Given the description of an element on the screen output the (x, y) to click on. 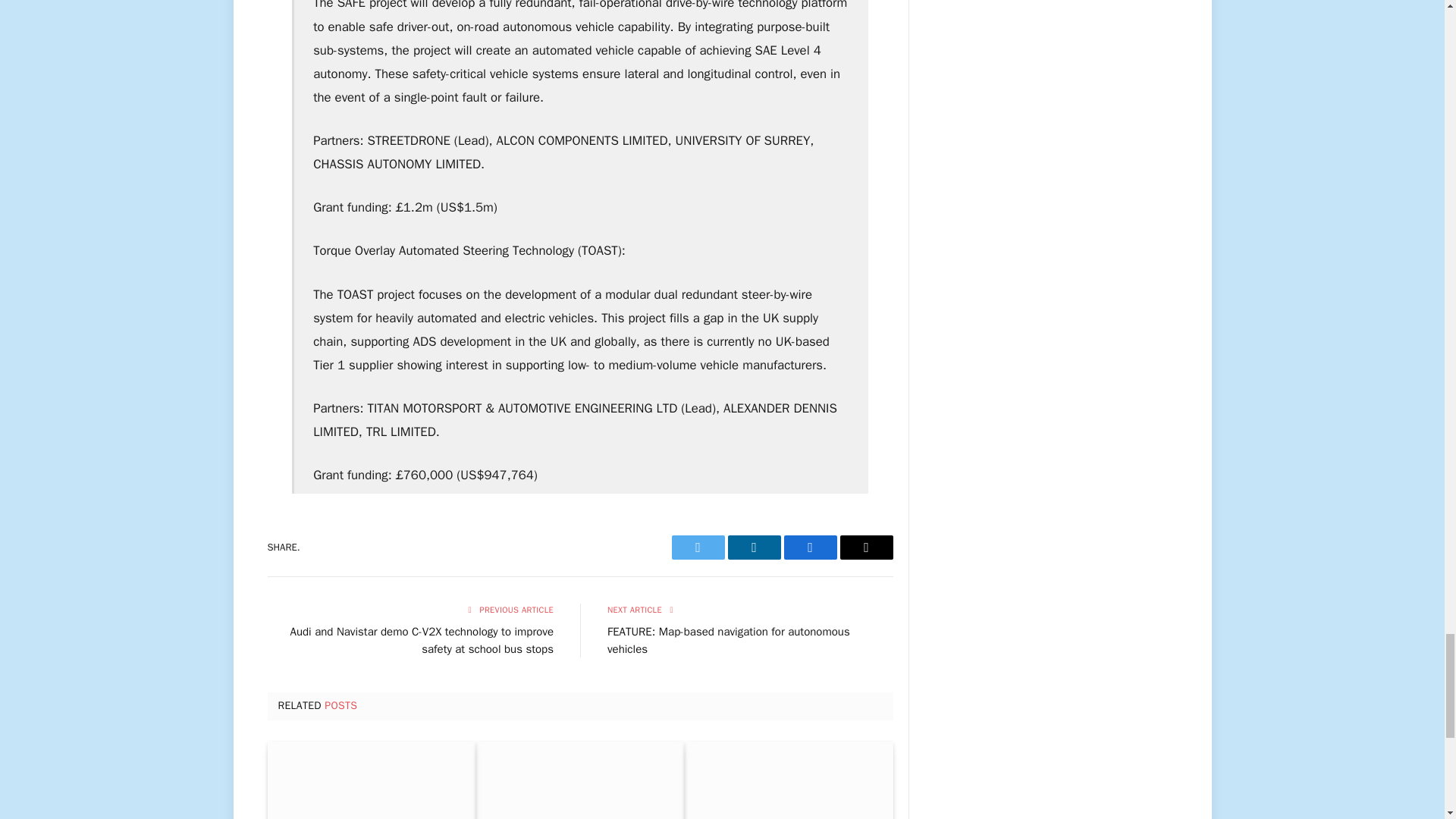
Share on LinkedIn (754, 547)
